Given the description of an element on the screen output the (x, y) to click on. 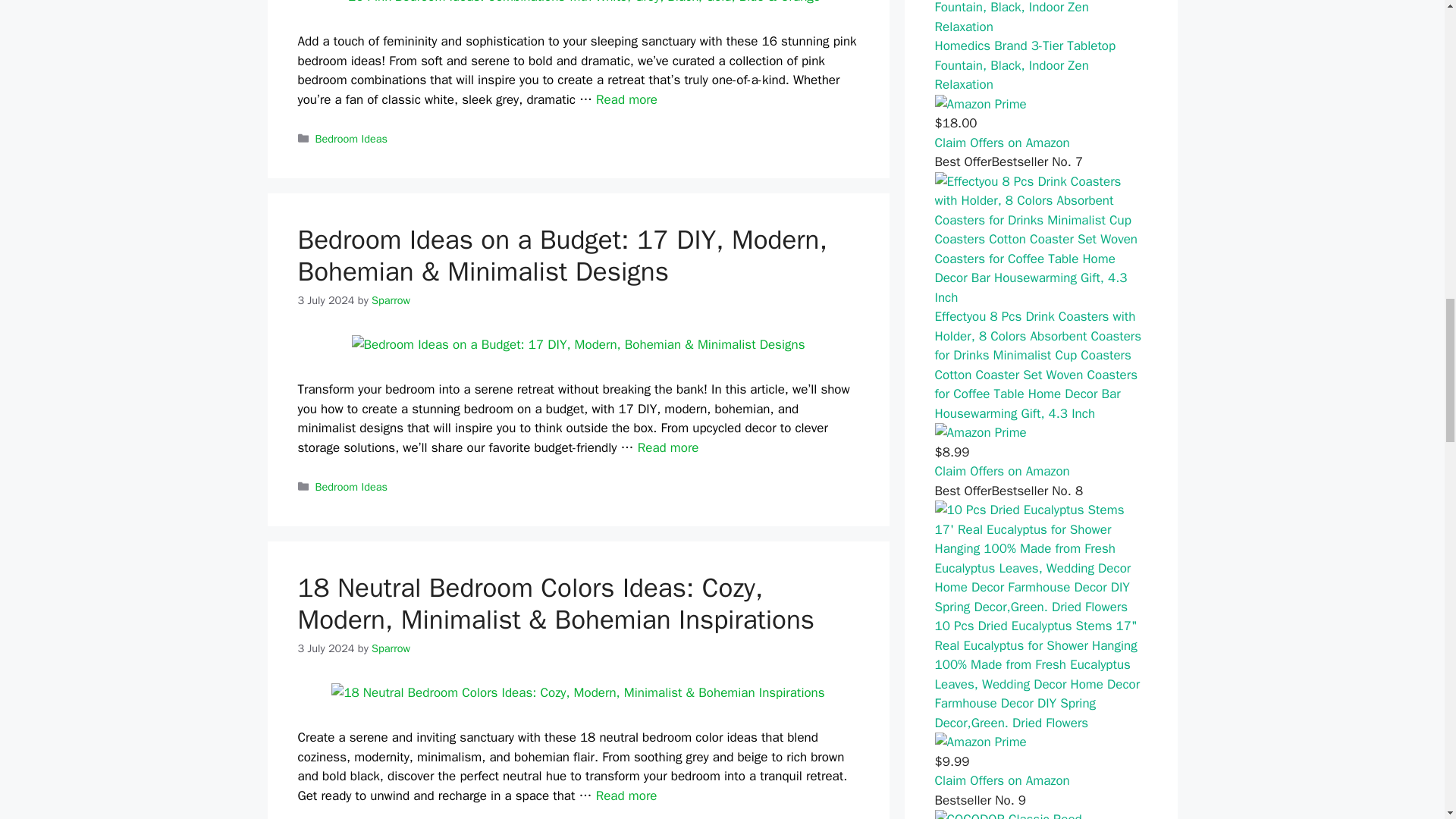
View all posts by Sparrow (390, 300)
Read more (626, 99)
Bedroom Ideas (351, 138)
Bedroom Ideas (351, 486)
Read more (667, 447)
Sparrow (390, 300)
